Given the description of an element on the screen output the (x, y) to click on. 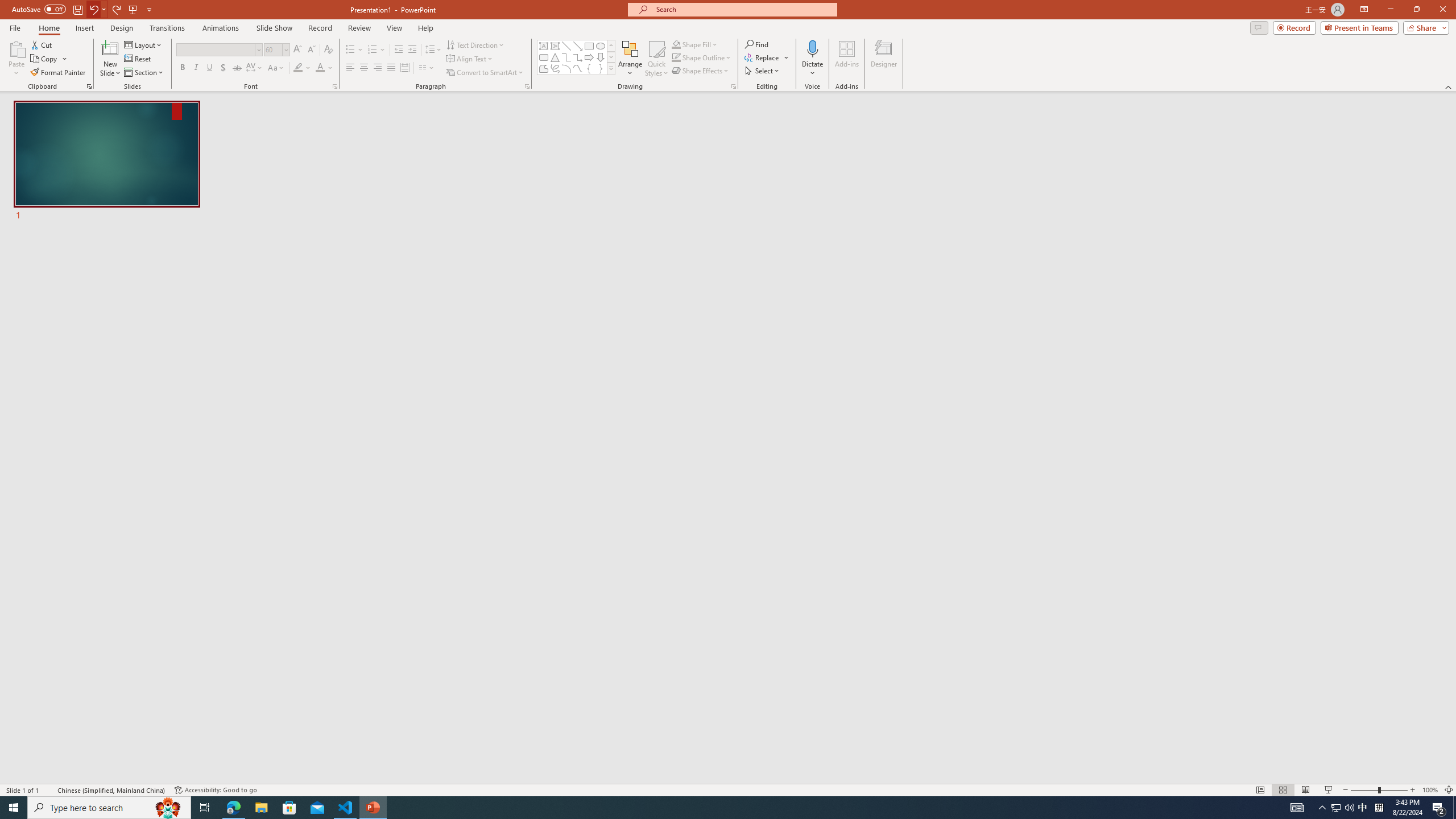
Zoom 100% (1430, 790)
Spell Check  (49, 790)
